Given the description of an element on the screen output the (x, y) to click on. 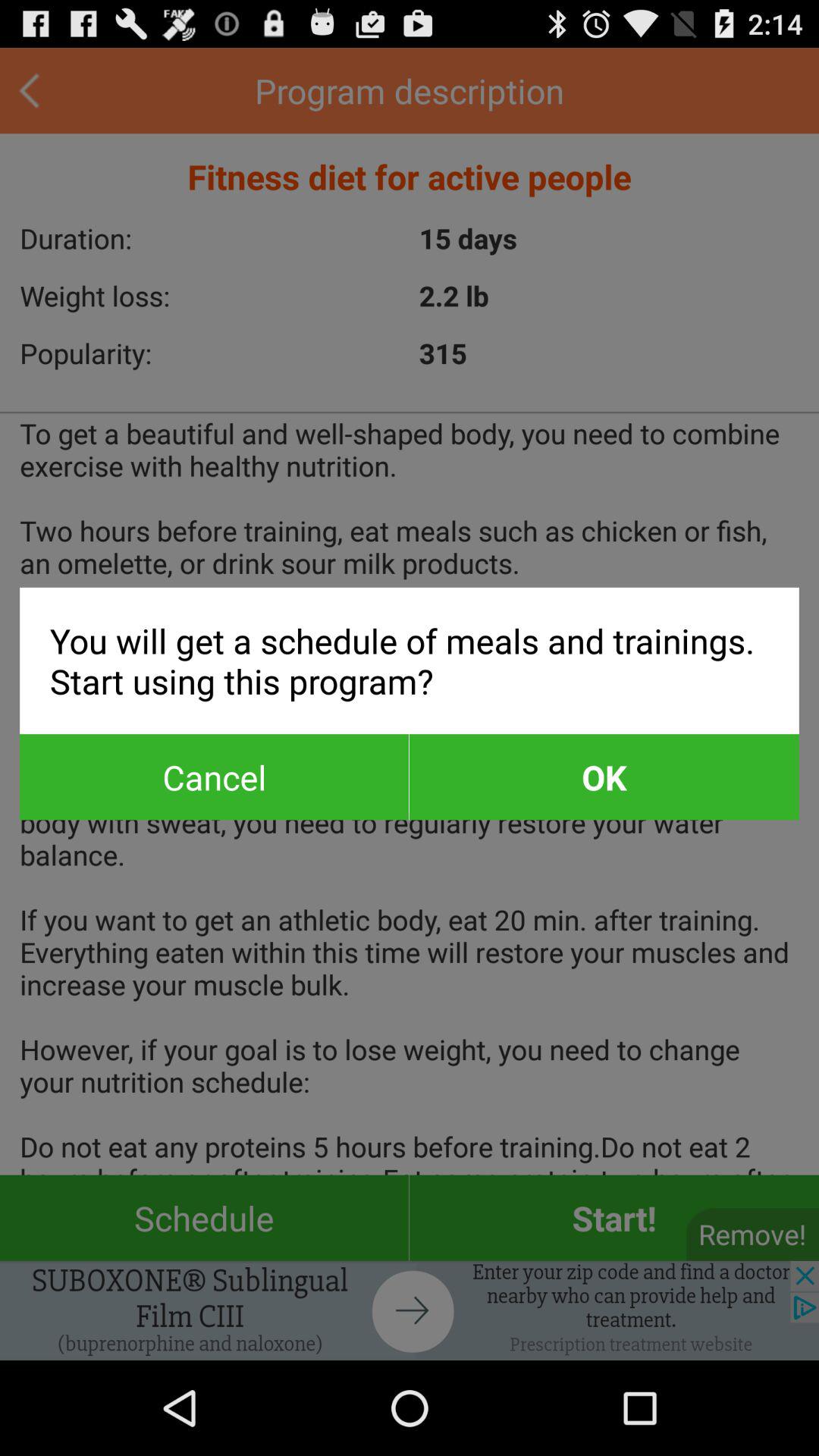
tap ok item (604, 777)
